Given the description of an element on the screen output the (x, y) to click on. 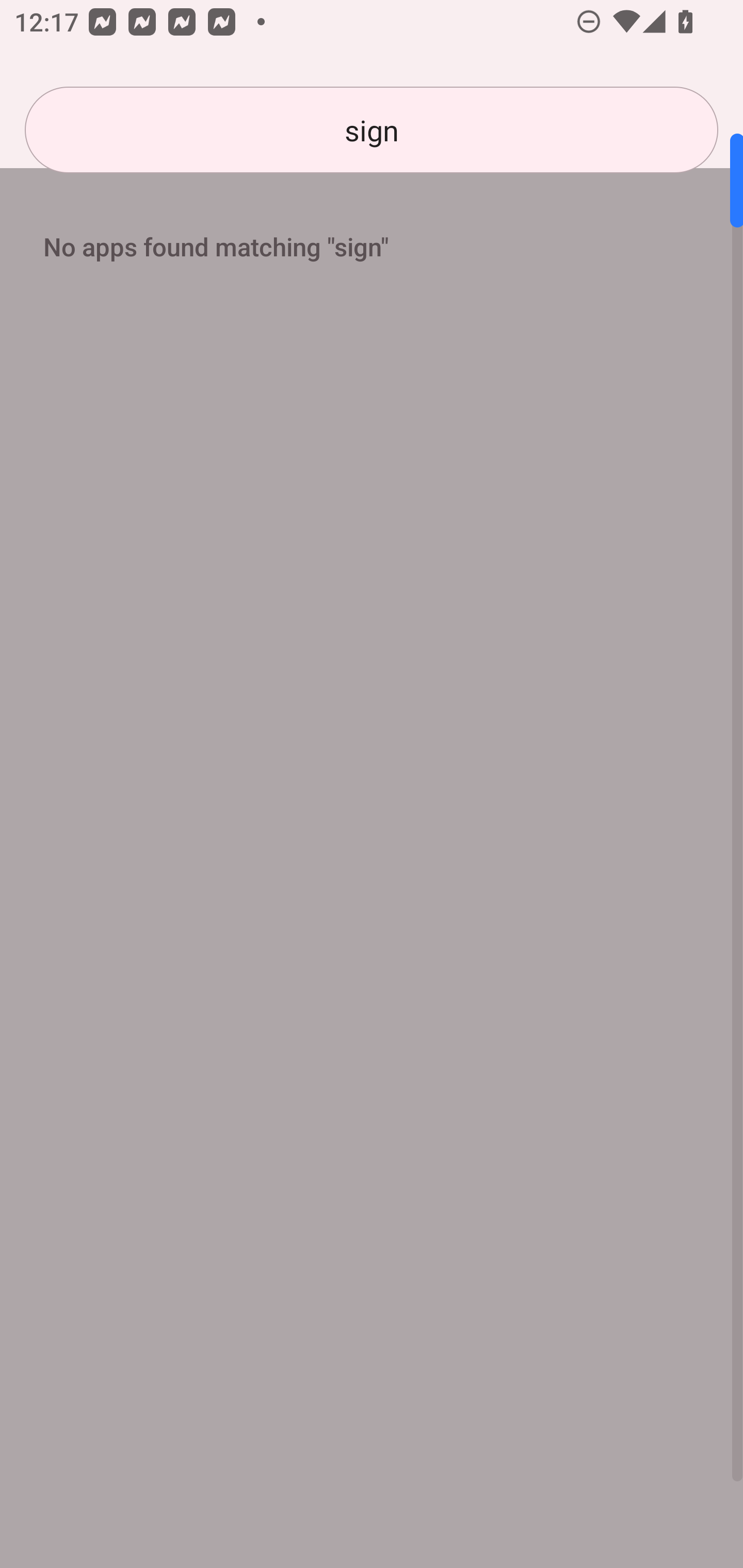
sign (371, 130)
